Given the description of an element on the screen output the (x, y) to click on. 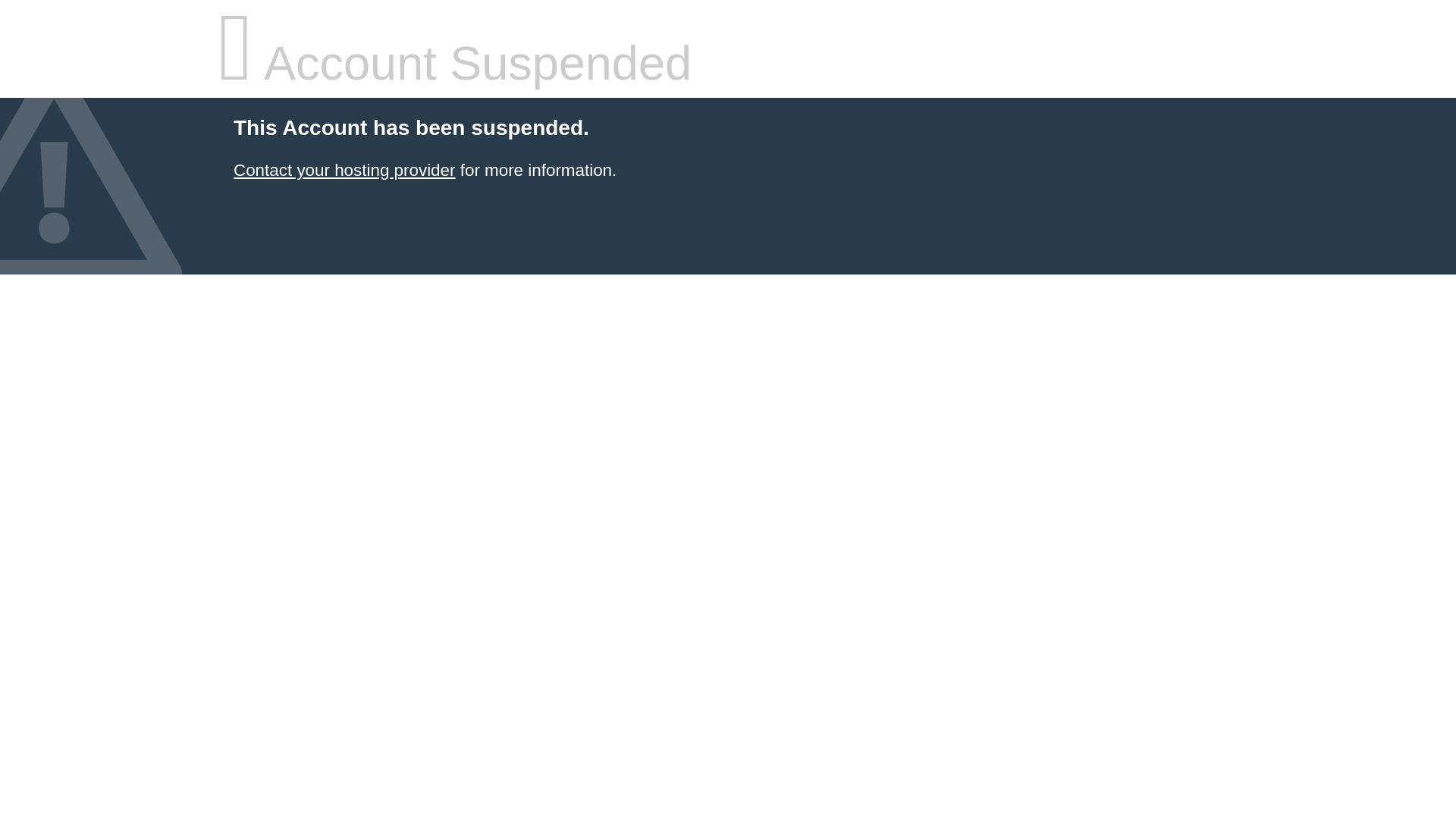
Contact your hosting provider (343, 169)
